Given the description of an element on the screen output the (x, y) to click on. 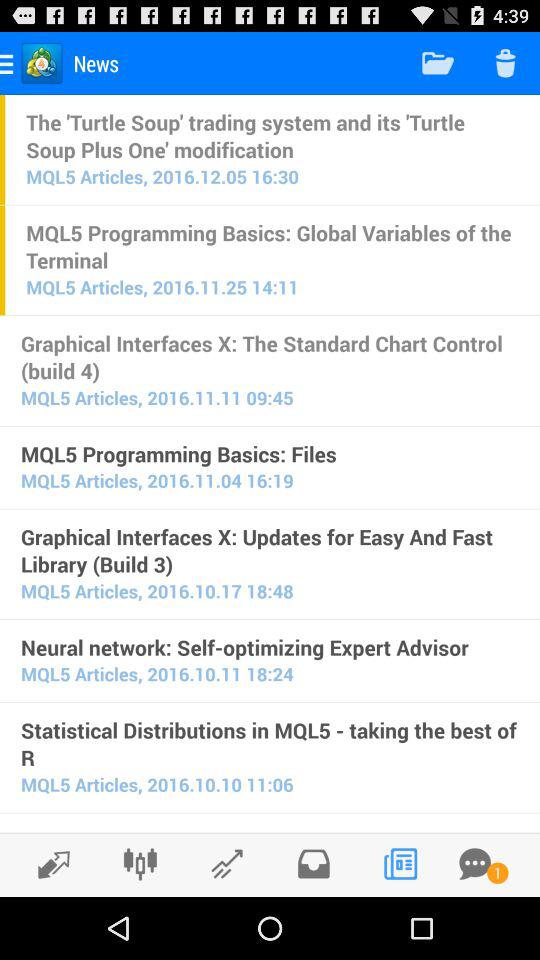
press icon below mql5 articles 2016 icon (270, 829)
